Given the description of an element on the screen output the (x, y) to click on. 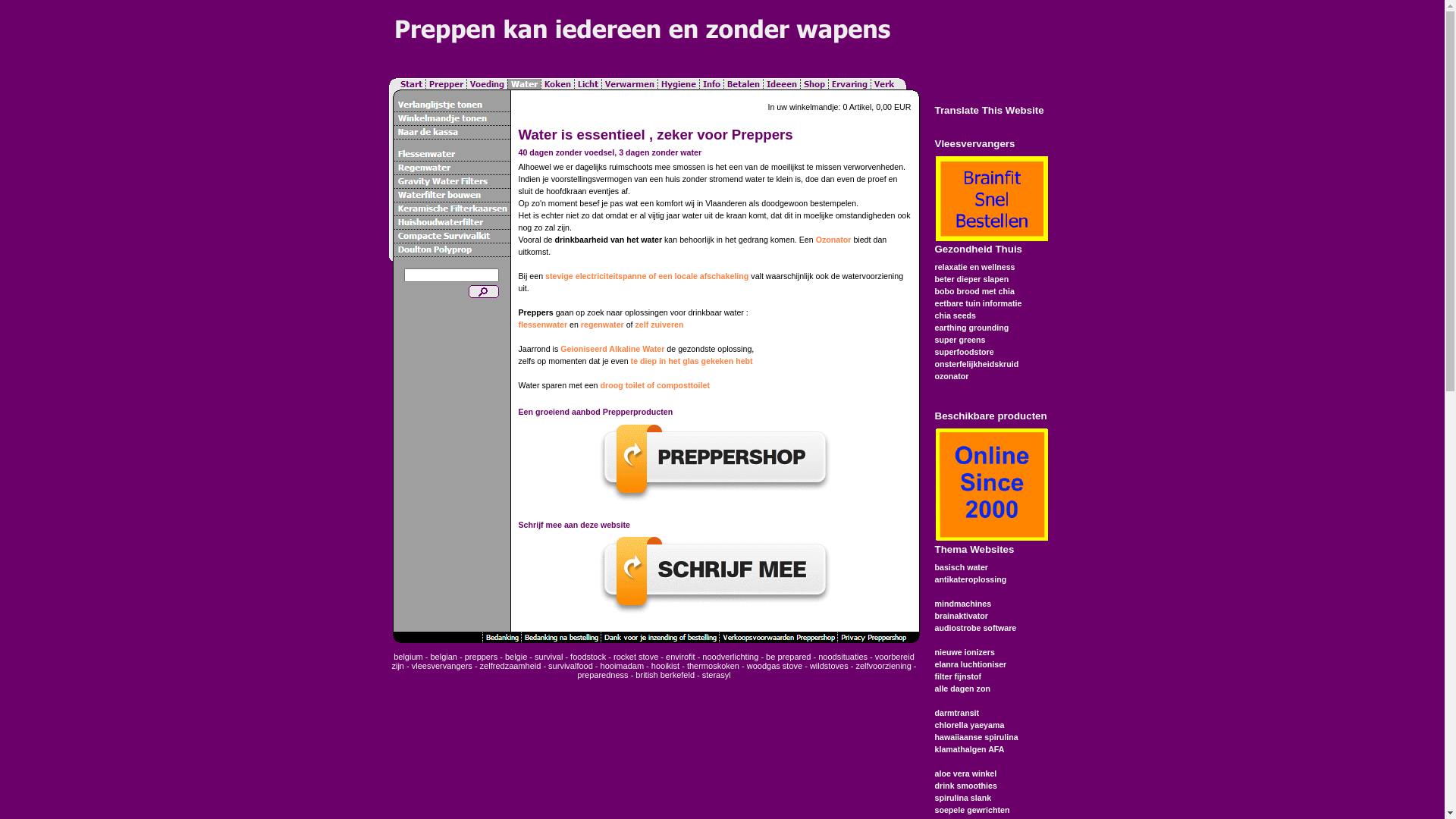
te diep in het glas gekeken hebt Element type: text (691, 360)
droog toilet of composttoilet Element type: text (654, 384)
superfoodstore Element type: text (963, 351)
nieuwe ionizers Element type: text (964, 651)
drink smoothies Element type: text (965, 785)
onsterfelijkheidskruid Element type: text (976, 363)
flessenwater Element type: text (542, 324)
Geioniseerd Alkaline Water Element type: text (612, 348)
klamathalgen AFA Element type: text (969, 748)
beter dieper slapen Element type: text (971, 278)
hawaiiaanse spirulina Element type: text (975, 736)
earthing grounding Element type: text (971, 327)
darmtransit Element type: text (956, 712)
chlorella yaeyama Element type: text (969, 724)
mindmachines Element type: text (962, 603)
Ozonator Element type: text (833, 239)
alle dagen zon Element type: text (961, 688)
filter fijnstof Element type: text (957, 675)
eetbare tuin informatie Element type: text (977, 302)
elanra luchtioniser Element type: text (970, 663)
audiostrobe software Element type: text (975, 627)
chia seeds Element type: text (954, 315)
ozonator Element type: text (951, 375)
soepele gewrichten Element type: text (971, 809)
brainaktivator Element type: text (960, 615)
regenwater Element type: text (602, 324)
relaxatie en wellness Element type: text (974, 266)
spirulina slank Element type: text (962, 797)
aloe vera winkel Element type: text (965, 773)
bobo brood met chia Element type: text (973, 290)
stevige electriciteitspanne of een locale afschakeling Element type: text (646, 275)
basisch water Element type: text (960, 566)
super greens Element type: text (959, 339)
antikateroplossing Element type: text (970, 578)
zelf zuiveren Element type: text (659, 324)
